Given the description of an element on the screen output the (x, y) to click on. 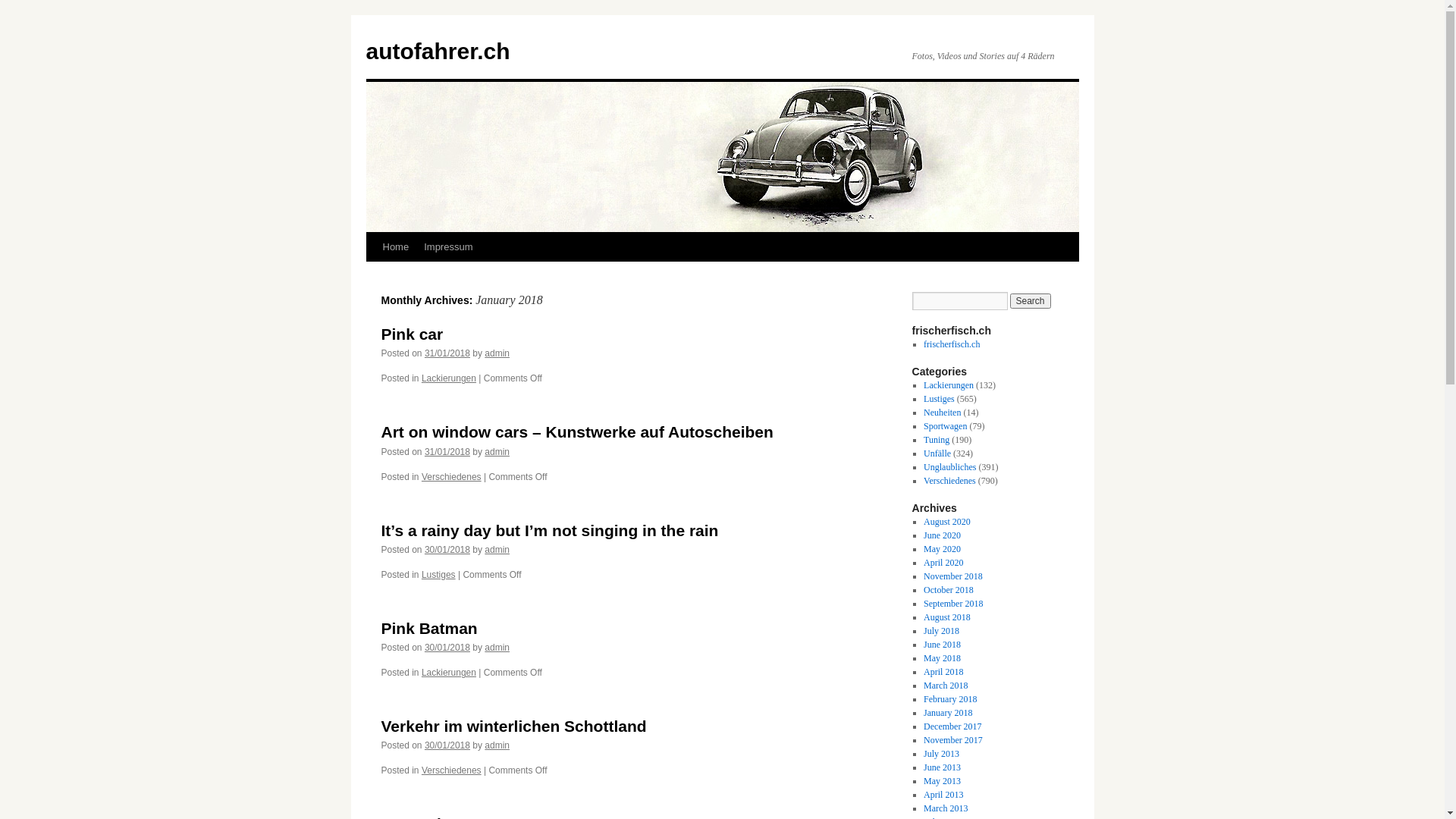
30/01/2018 Element type: text (447, 549)
Lackierungen Element type: text (948, 384)
Impressum Element type: text (448, 246)
September 2018 Element type: text (952, 603)
admin Element type: text (496, 353)
Tuning Element type: text (936, 439)
30/01/2018 Element type: text (447, 647)
August 2018 Element type: text (946, 616)
31/01/2018 Element type: text (447, 353)
admin Element type: text (496, 549)
December 2017 Element type: text (952, 726)
April 2018 Element type: text (943, 671)
March 2013 Element type: text (945, 808)
March 2018 Element type: text (945, 685)
April 2020 Element type: text (943, 562)
November 2018 Element type: text (952, 576)
admin Element type: text (496, 647)
Unglaubliches Element type: text (949, 466)
Lustiges Element type: text (938, 398)
Home Element type: text (395, 246)
June 2013 Element type: text (941, 767)
autofahrer.ch Element type: text (437, 50)
Pink Batman Element type: text (428, 628)
31/01/2018 Element type: text (447, 451)
Verkehr im winterlichen Schottland Element type: text (513, 725)
Verschiedenes Element type: text (949, 480)
Lackierungen Element type: text (448, 378)
Neuheiten Element type: text (941, 412)
February 2018 Element type: text (949, 698)
May 2013 Element type: text (941, 780)
July 2018 Element type: text (941, 630)
August 2020 Element type: text (946, 521)
Search Element type: text (1030, 300)
July 2013 Element type: text (941, 753)
Verschiedenes Element type: text (451, 770)
October 2018 Element type: text (948, 589)
Lackierungen Element type: text (448, 672)
Lustiges Element type: text (438, 574)
Pink car Element type: text (411, 333)
Skip to content Element type: text (372, 275)
May 2020 Element type: text (941, 548)
admin Element type: text (496, 451)
Verschiedenes Element type: text (451, 476)
June 2020 Element type: text (941, 535)
May 2018 Element type: text (941, 657)
30/01/2018 Element type: text (447, 745)
June 2018 Element type: text (941, 644)
frischerfisch.ch Element type: text (951, 343)
April 2013 Element type: text (943, 794)
January 2018 Element type: text (947, 712)
Sportwagen Element type: text (944, 425)
admin Element type: text (496, 745)
November 2017 Element type: text (952, 739)
